Given the description of an element on the screen output the (x, y) to click on. 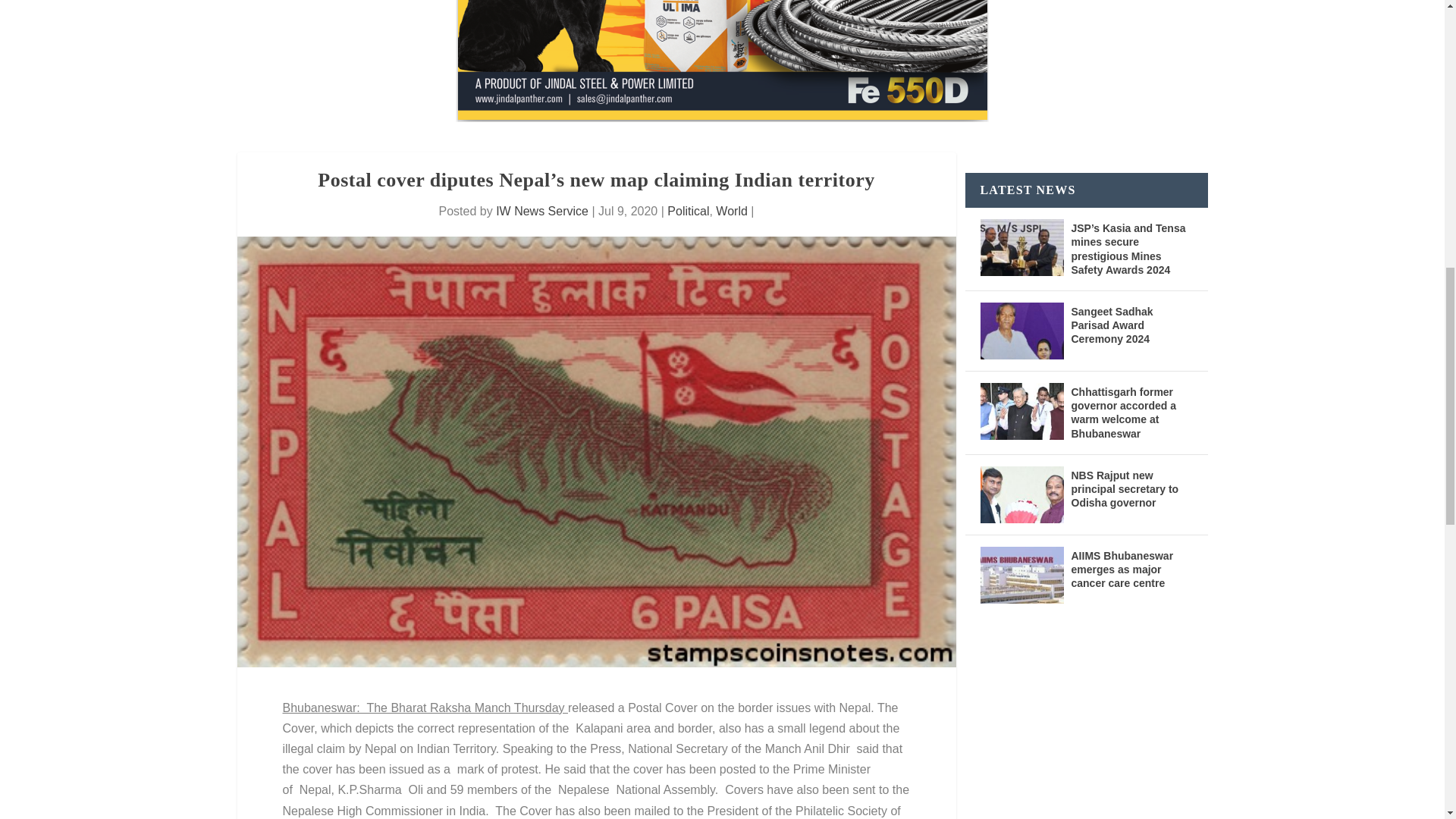
Sangeet Sadhak Parisad Award Ceremony 2024 (1020, 330)
Posts by IW News Service (542, 210)
